Given the description of an element on the screen output the (x, y) to click on. 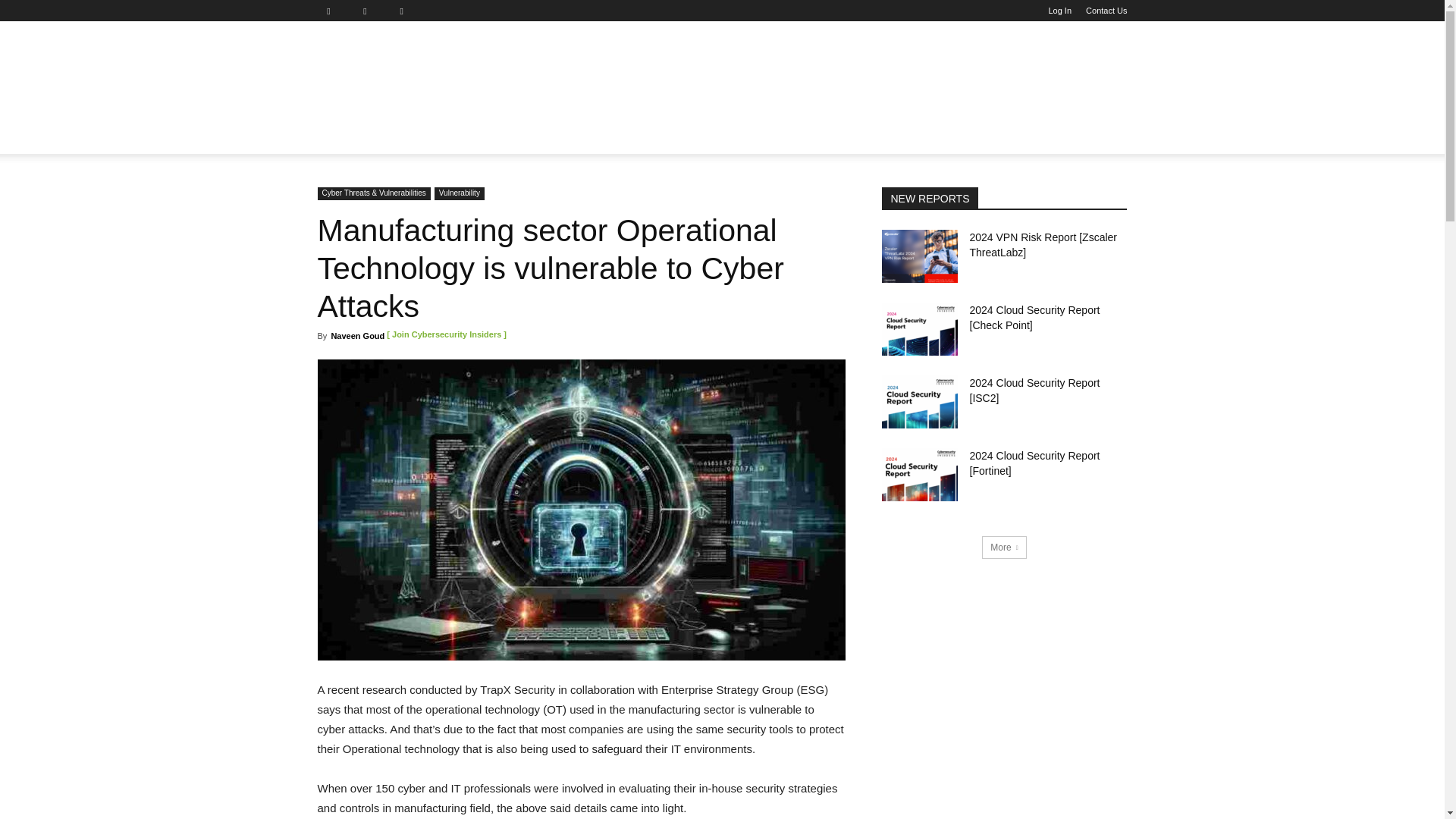
Log In (1059, 10)
Linkedin (370, 10)
Twitter (407, 10)
News (343, 135)
Facebook (333, 10)
NEWS (343, 135)
Contact Us (1106, 10)
